Given the description of an element on the screen output the (x, y) to click on. 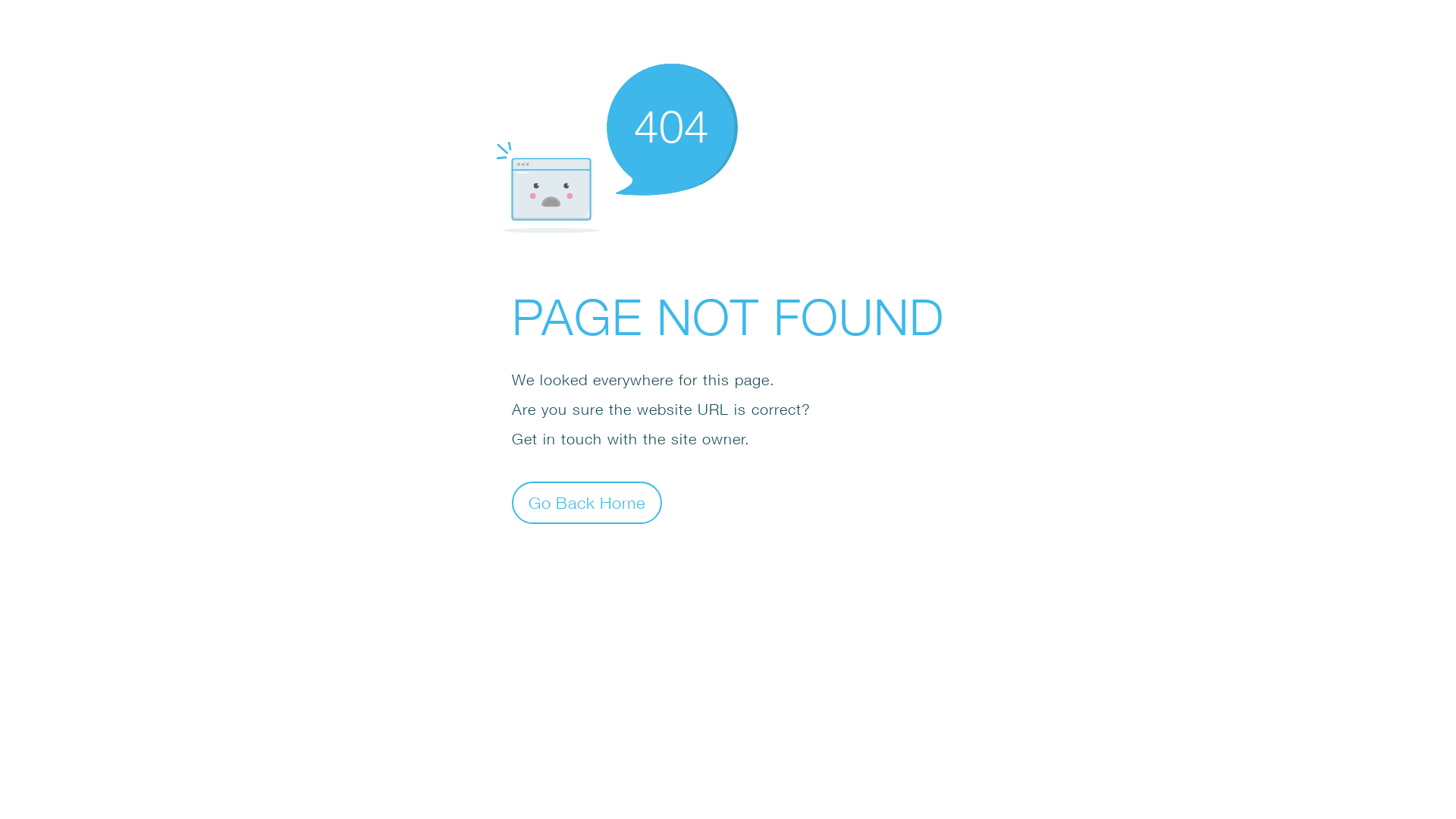
Go Back Home Element type: text (586, 502)
